Given the description of an element on the screen output the (x, y) to click on. 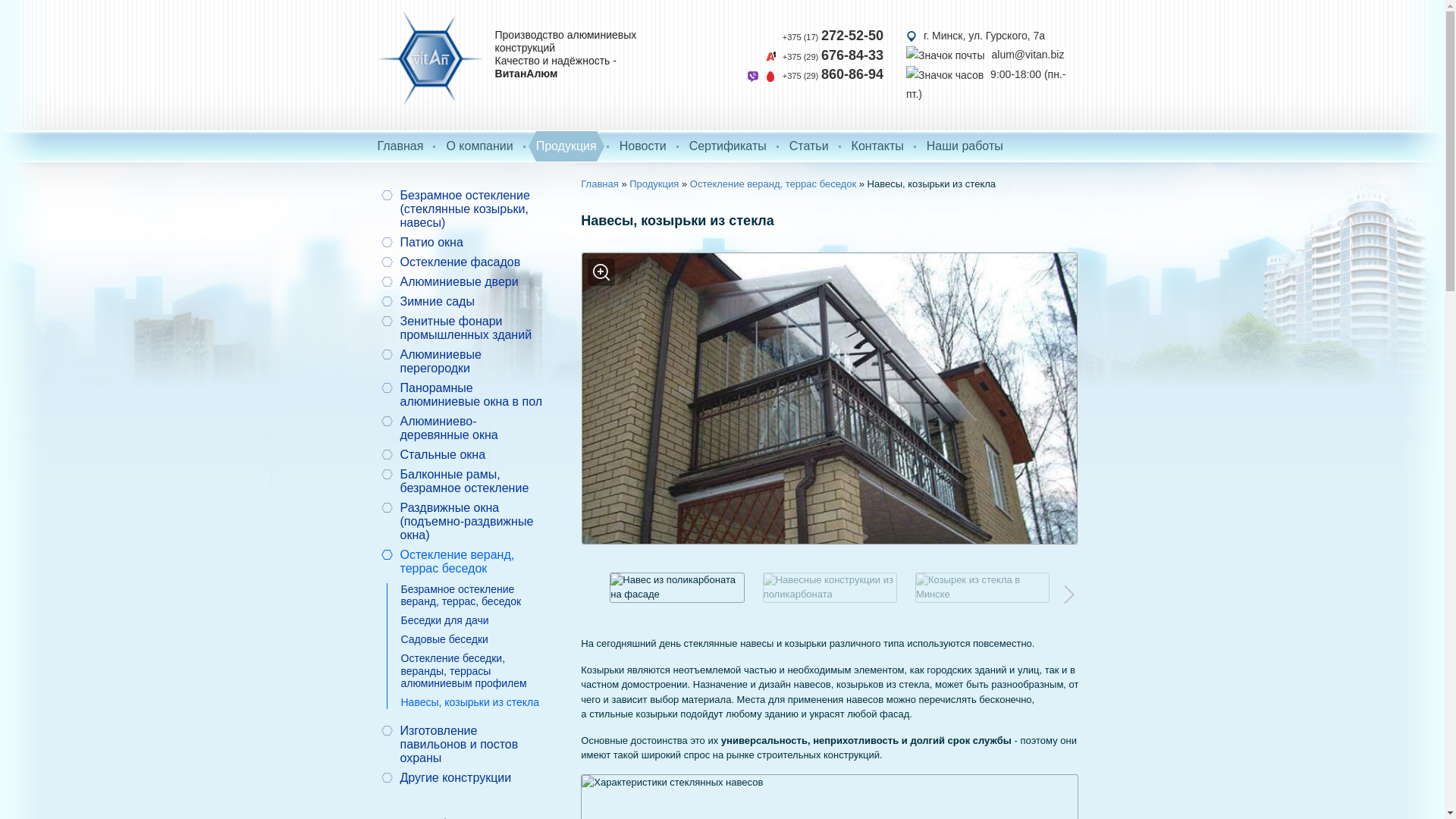
+375 (29) 860-86-94 Element type: text (815, 74)
+375 (17) 272-52-50 Element type: text (832, 36)
alum@vitan.biz Element type: text (984, 55)
Email Element type: hover (945, 55)
+375 (29) 676-84-33 Element type: text (824, 55)
